Given the description of an element on the screen output the (x, y) to click on. 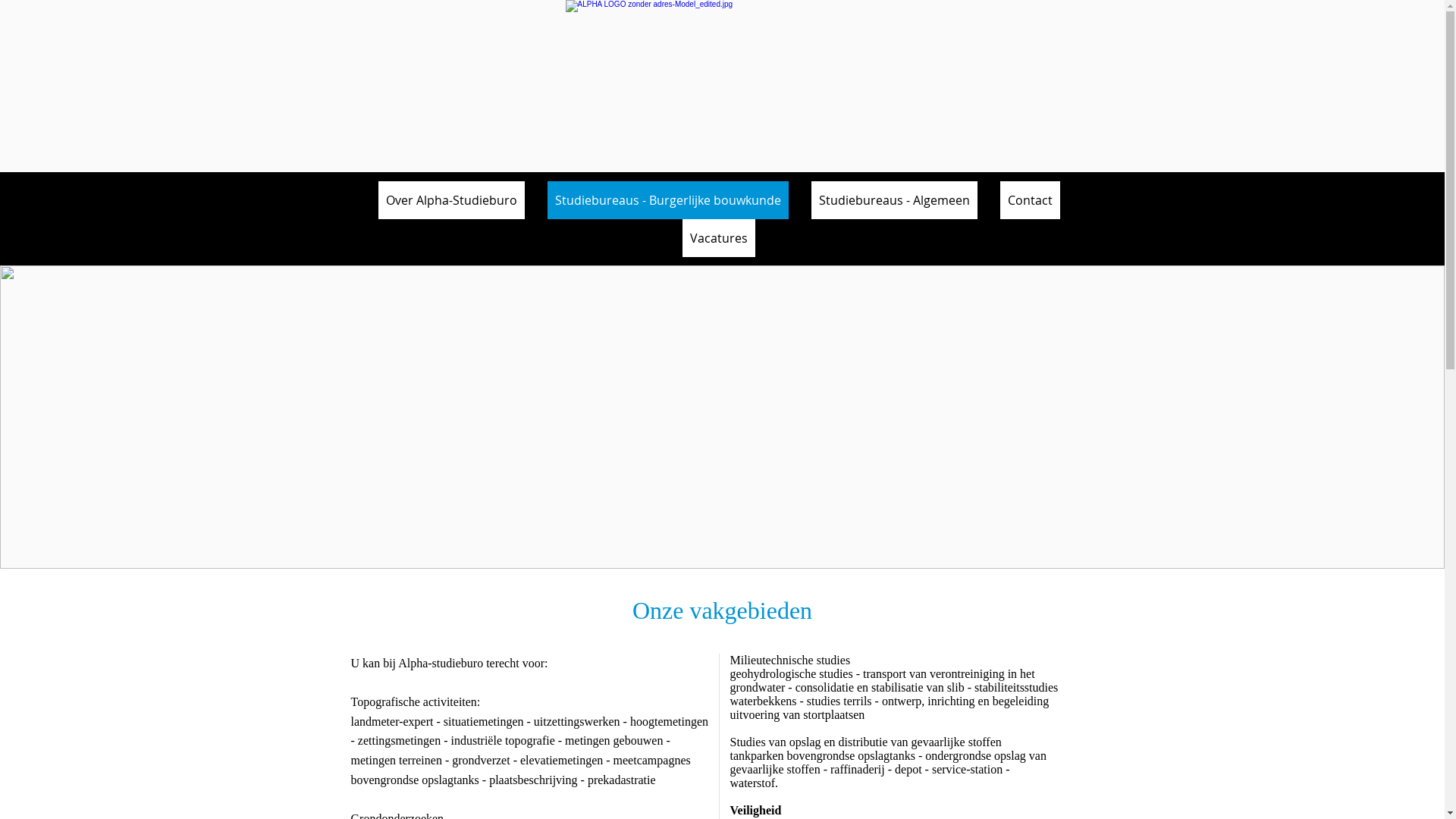
Studiebureaus - Algemeen Element type: text (894, 200)
Over Alpha-Studieburo Element type: text (450, 200)
Vacatures Element type: text (718, 238)
Alpha-Studieburo Element type: hover (829, 86)
Studiebureaus - Burgerlijke bouwkunde Element type: text (667, 200)
Contact Element type: text (1029, 200)
